Given the description of an element on the screen output the (x, y) to click on. 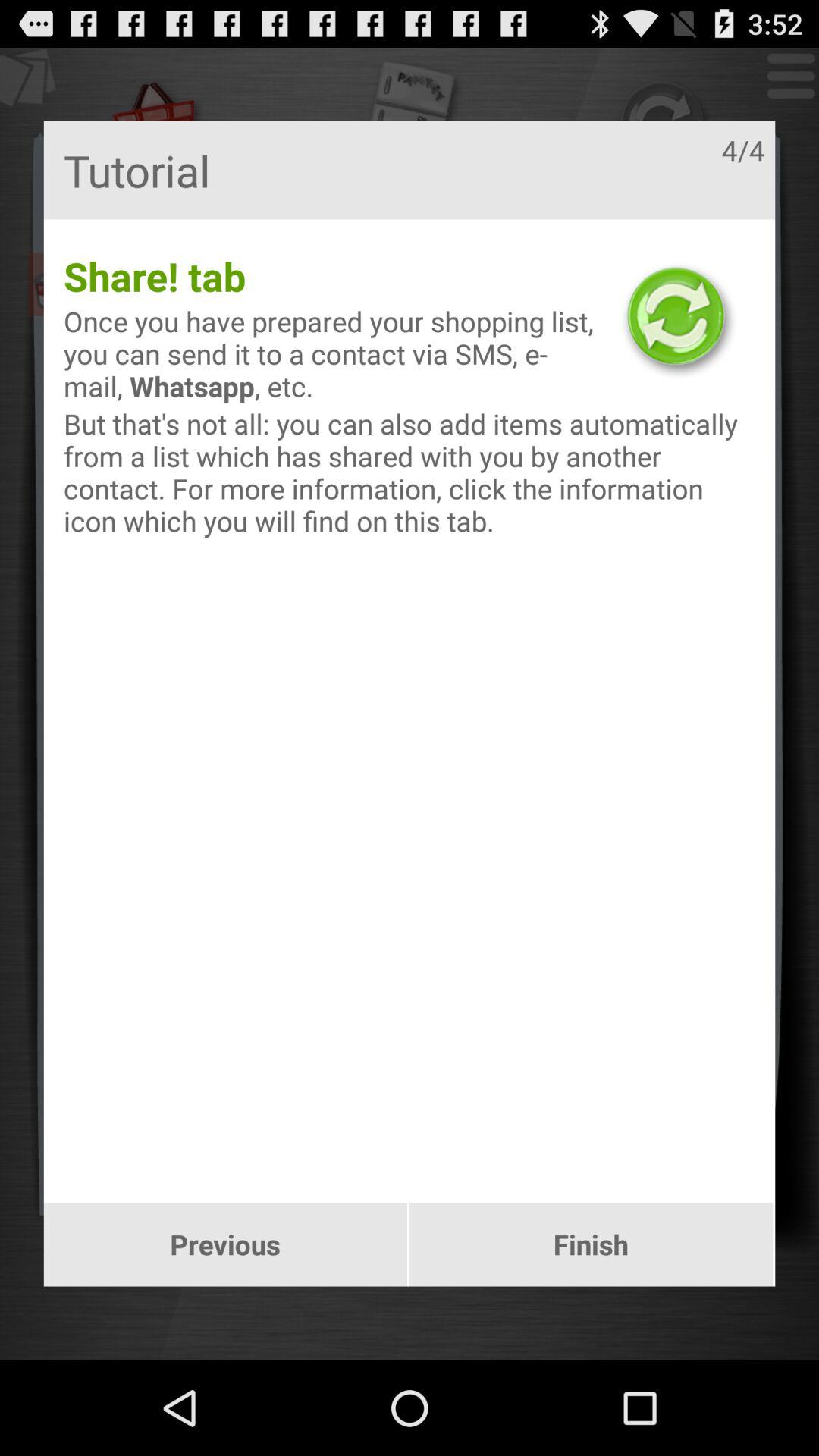
jump to finish button (590, 1244)
